Given the description of an element on the screen output the (x, y) to click on. 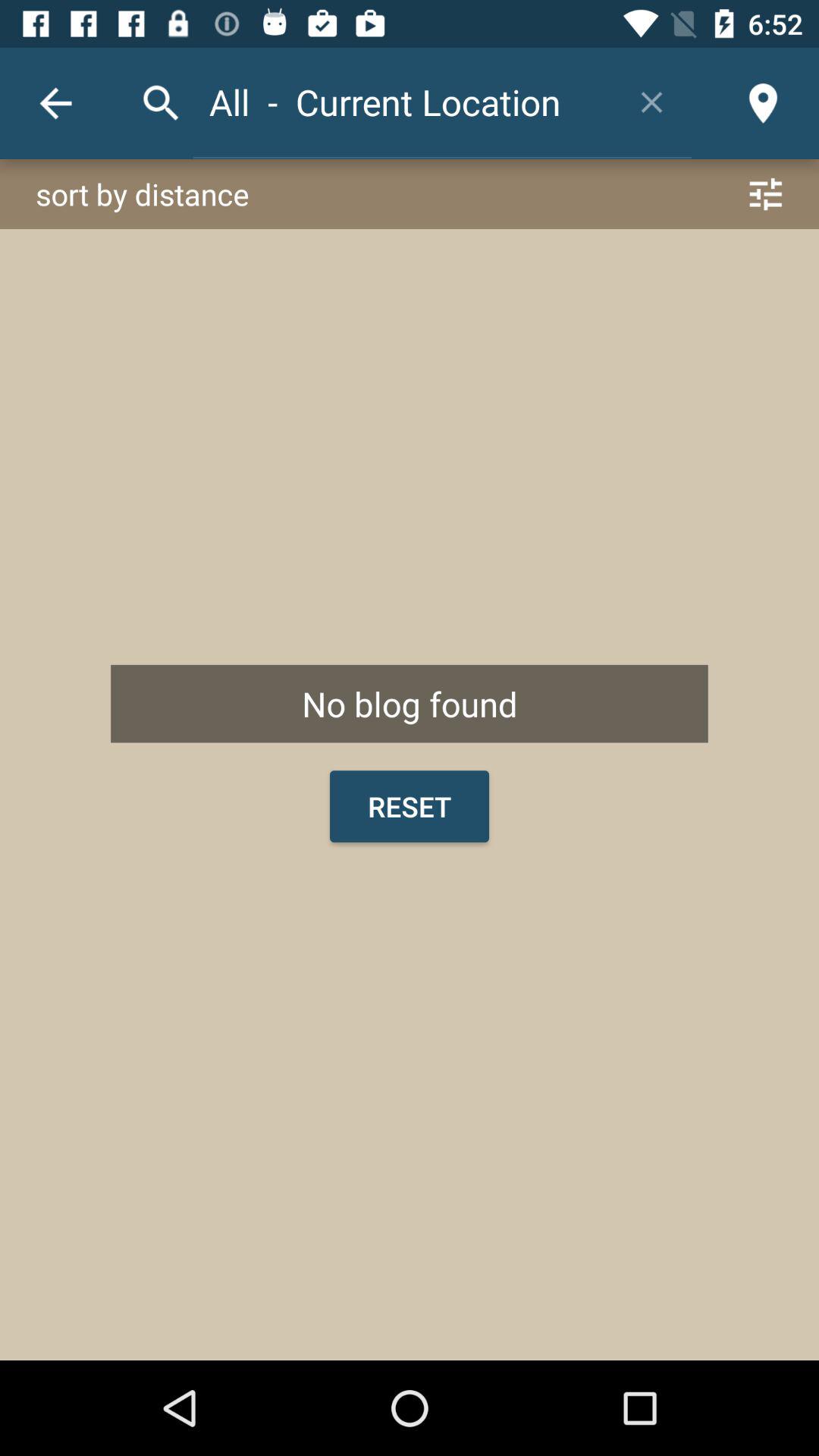
press item next to the all  -  current location (651, 101)
